Given the description of an element on the screen output the (x, y) to click on. 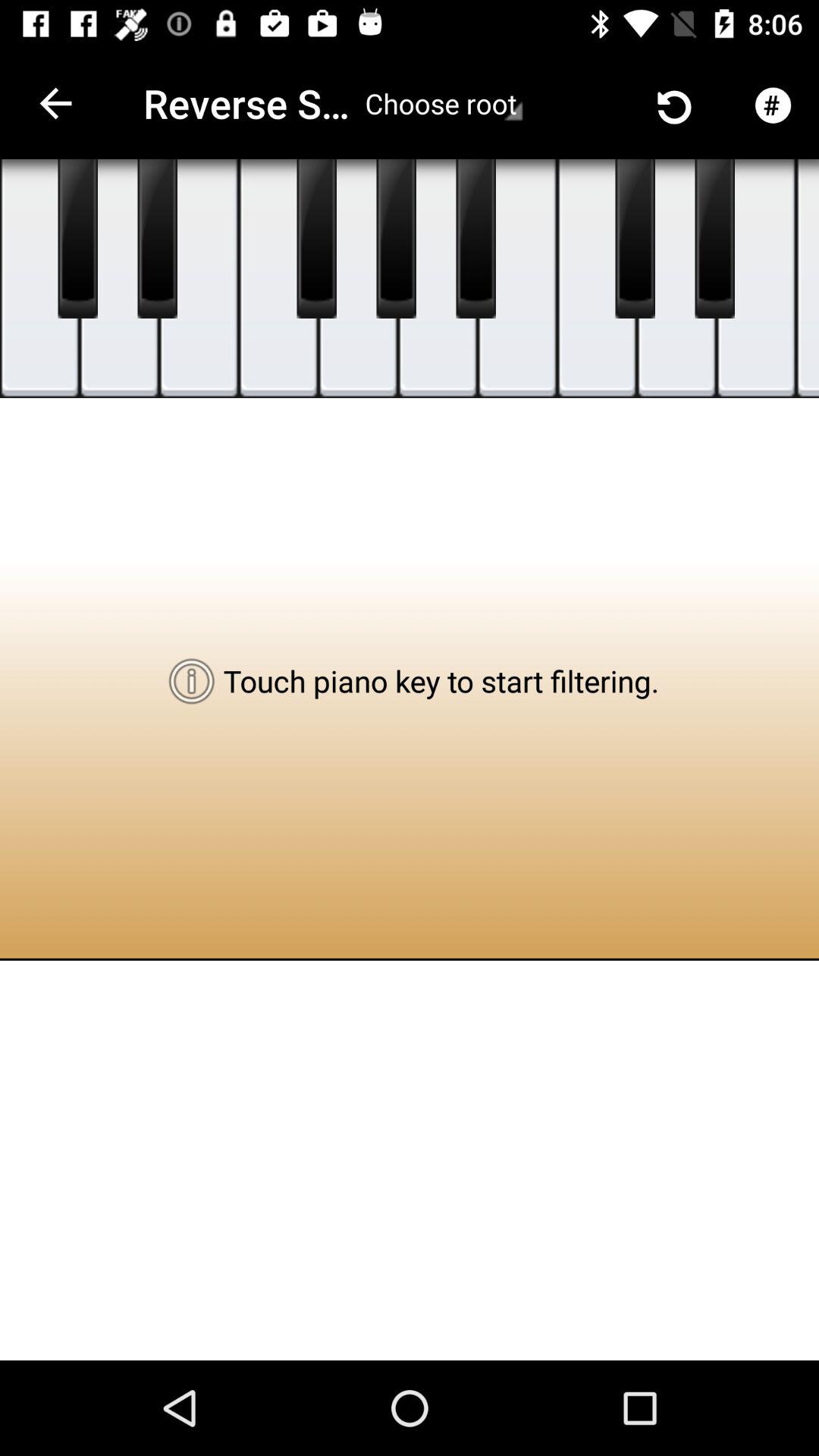
play d key (119, 278)
